Given the description of an element on the screen output the (x, y) to click on. 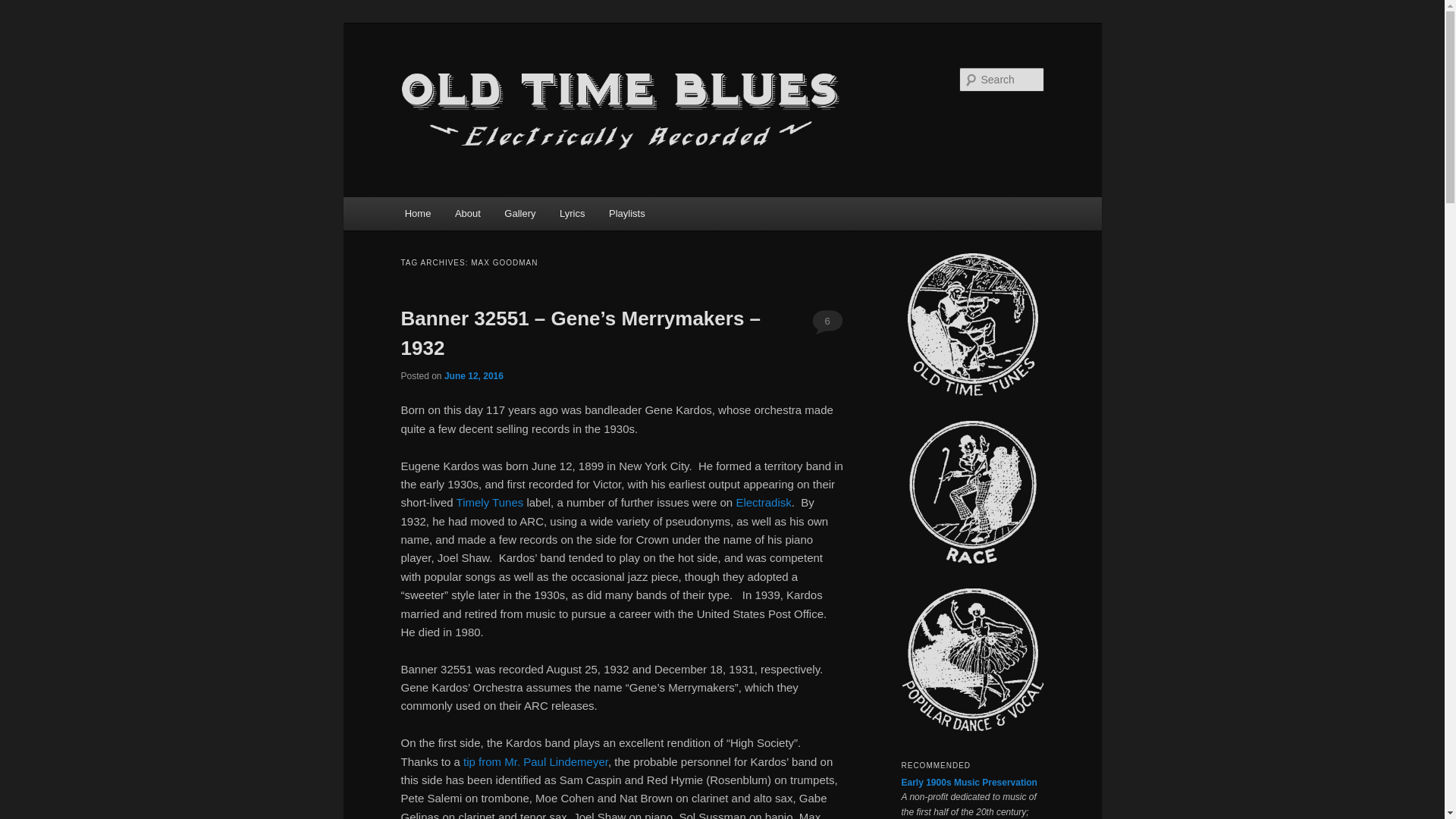
Playlists (626, 213)
Gallery (520, 213)
About (467, 213)
Search (24, 8)
Lyrics (571, 213)
10:28 pm (473, 376)
Home (417, 213)
